Given the description of an element on the screen output the (x, y) to click on. 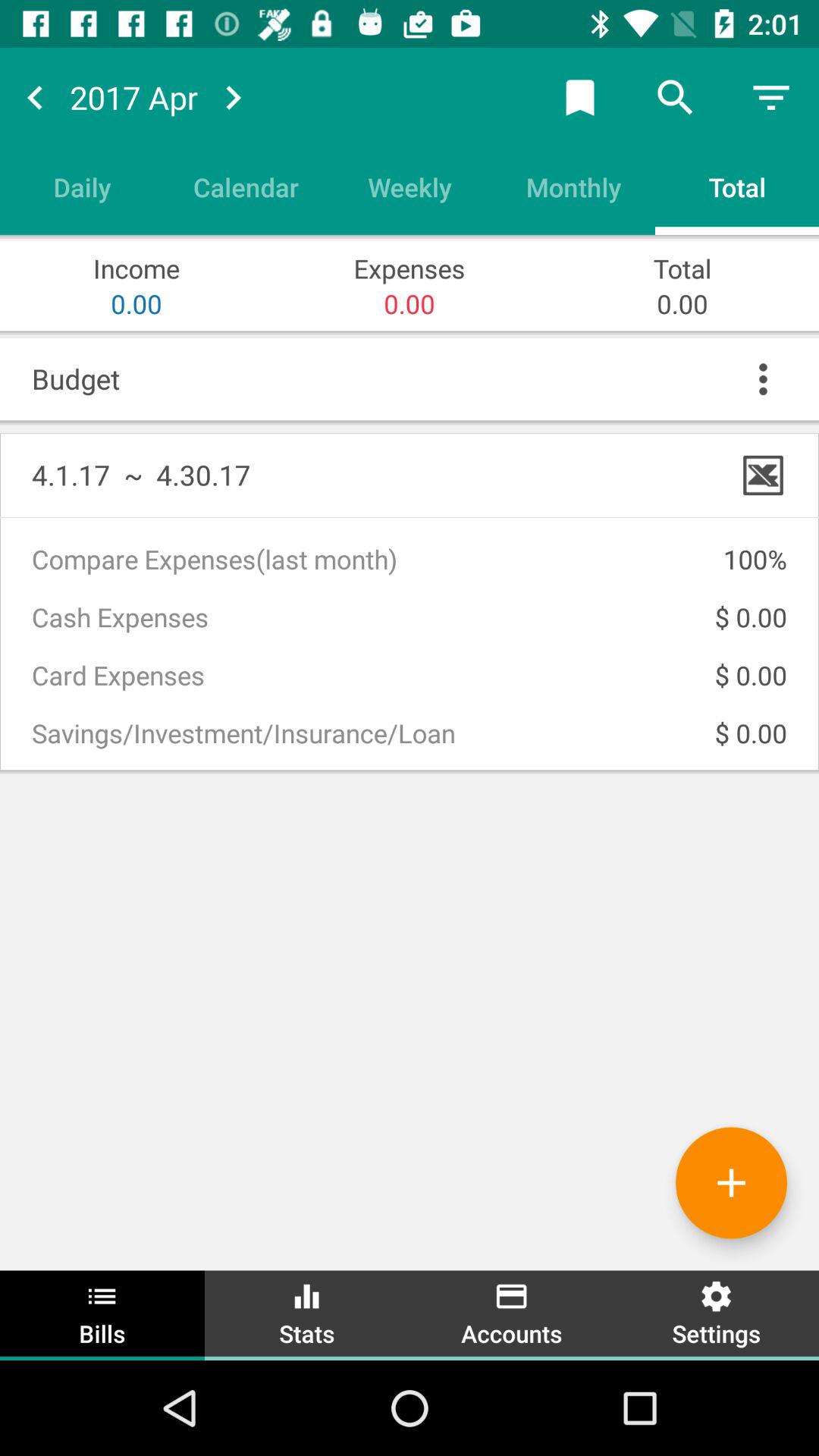
select x above 100 (763, 474)
